Given the description of an element on the screen output the (x, y) to click on. 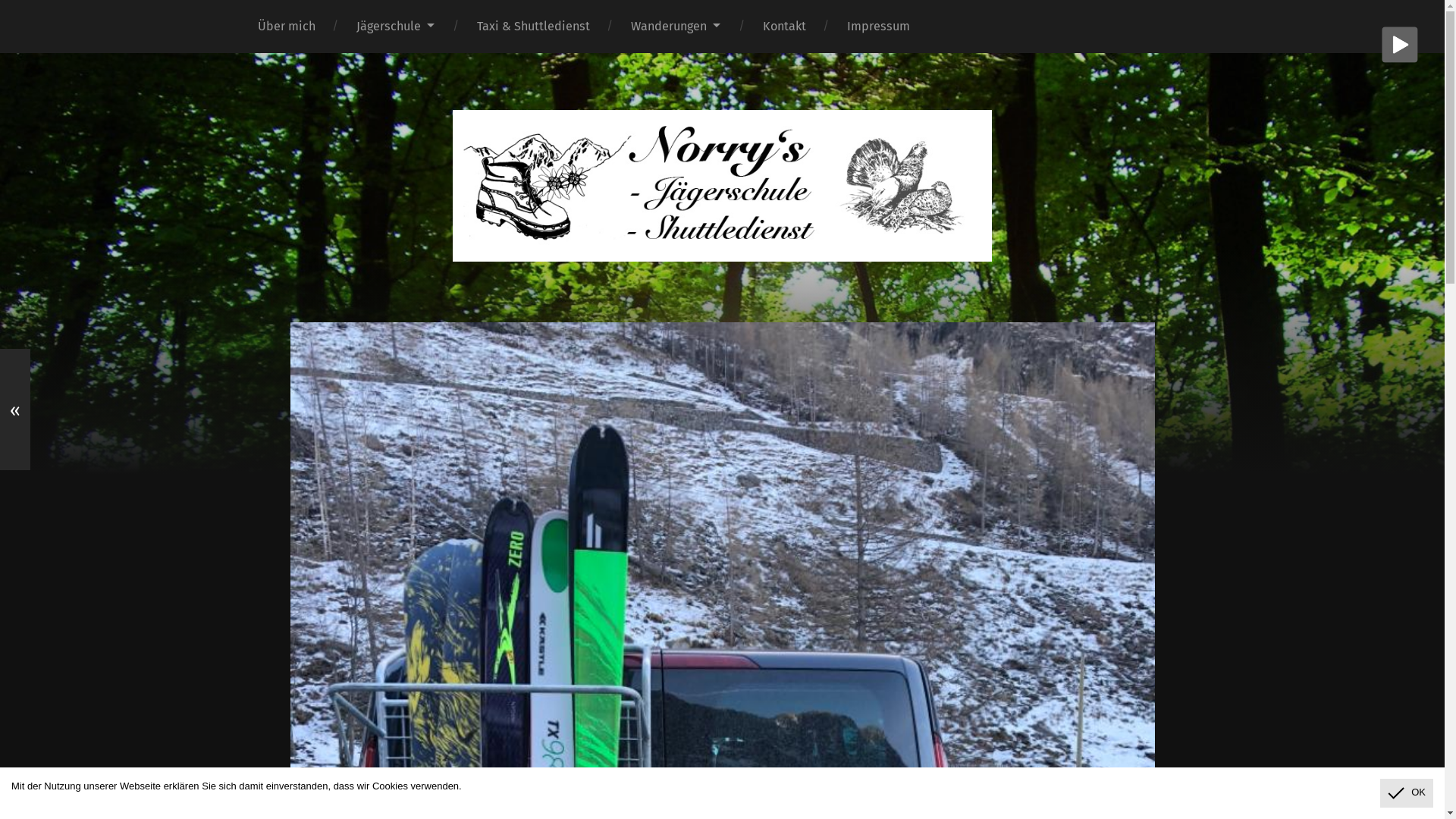
Wanderungen Element type: text (675, 26)
Kontakt Element type: text (783, 26)
Taxi & Shuttledienst Element type: text (533, 26)
Impressum Element type: text (878, 26)
